Given the description of an element on the screen output the (x, y) to click on. 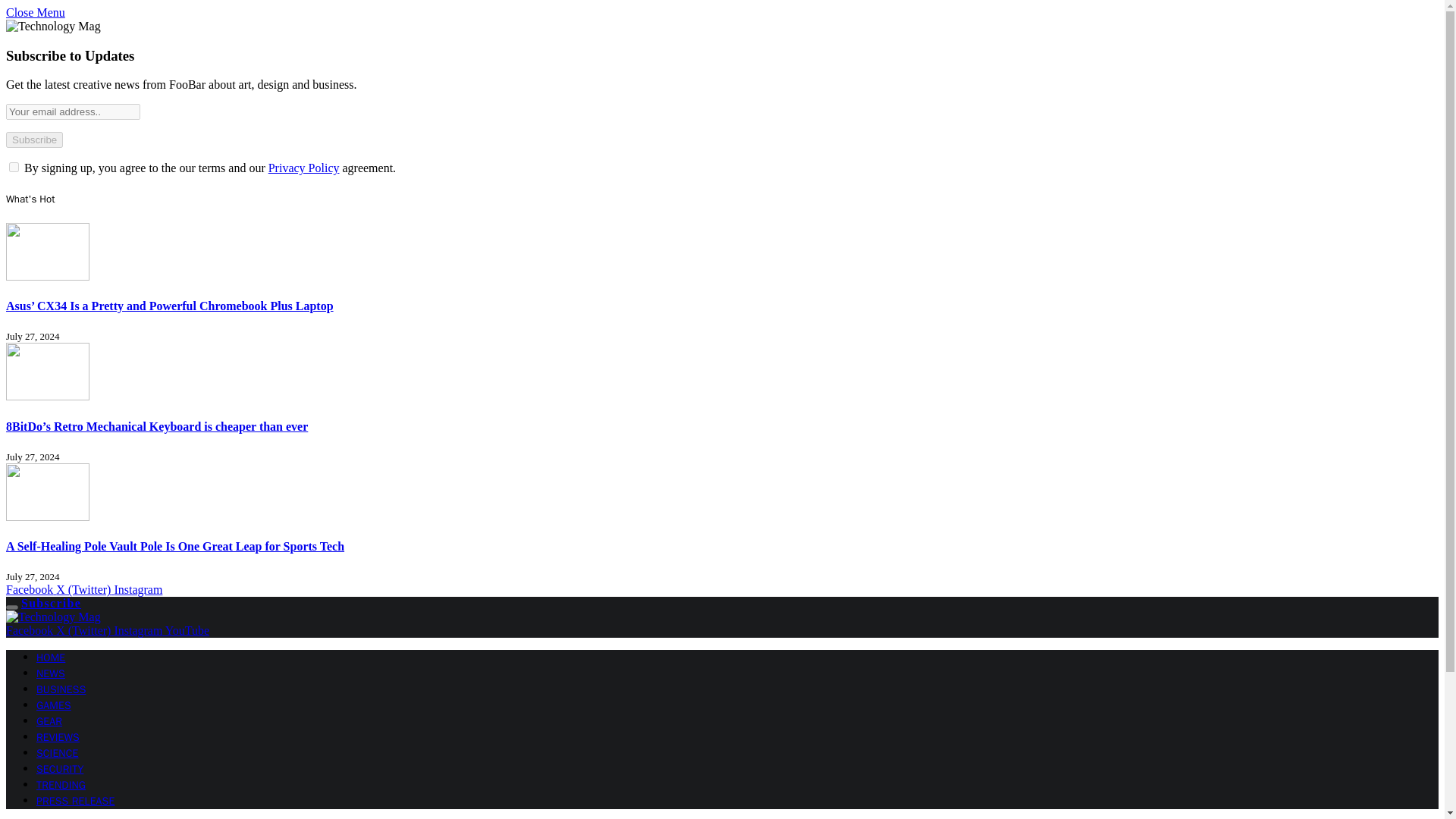
Subscribe (33, 139)
Subscribe (51, 603)
Instagram (138, 630)
HOME (50, 657)
SCIENCE (57, 753)
TRENDING (60, 784)
Instagram (137, 589)
GAMES (53, 705)
on (13, 166)
Facebook (30, 589)
Privacy Policy (303, 167)
YouTube (187, 630)
